Given the description of an element on the screen output the (x, y) to click on. 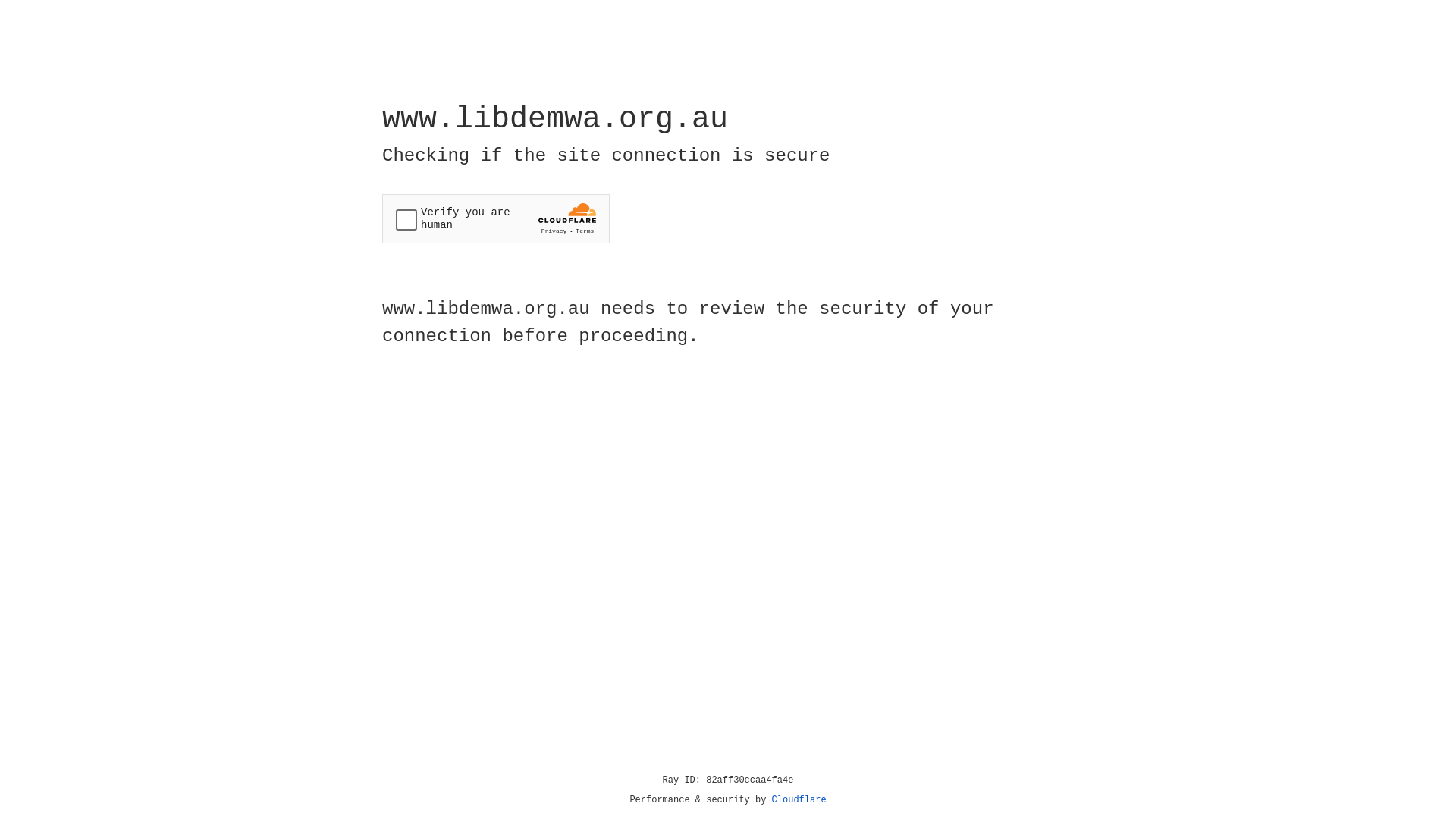
Widget containing a Cloudflare security challenge Element type: hover (495, 218)
Cloudflare Element type: text (798, 799)
